Given the description of an element on the screen output the (x, y) to click on. 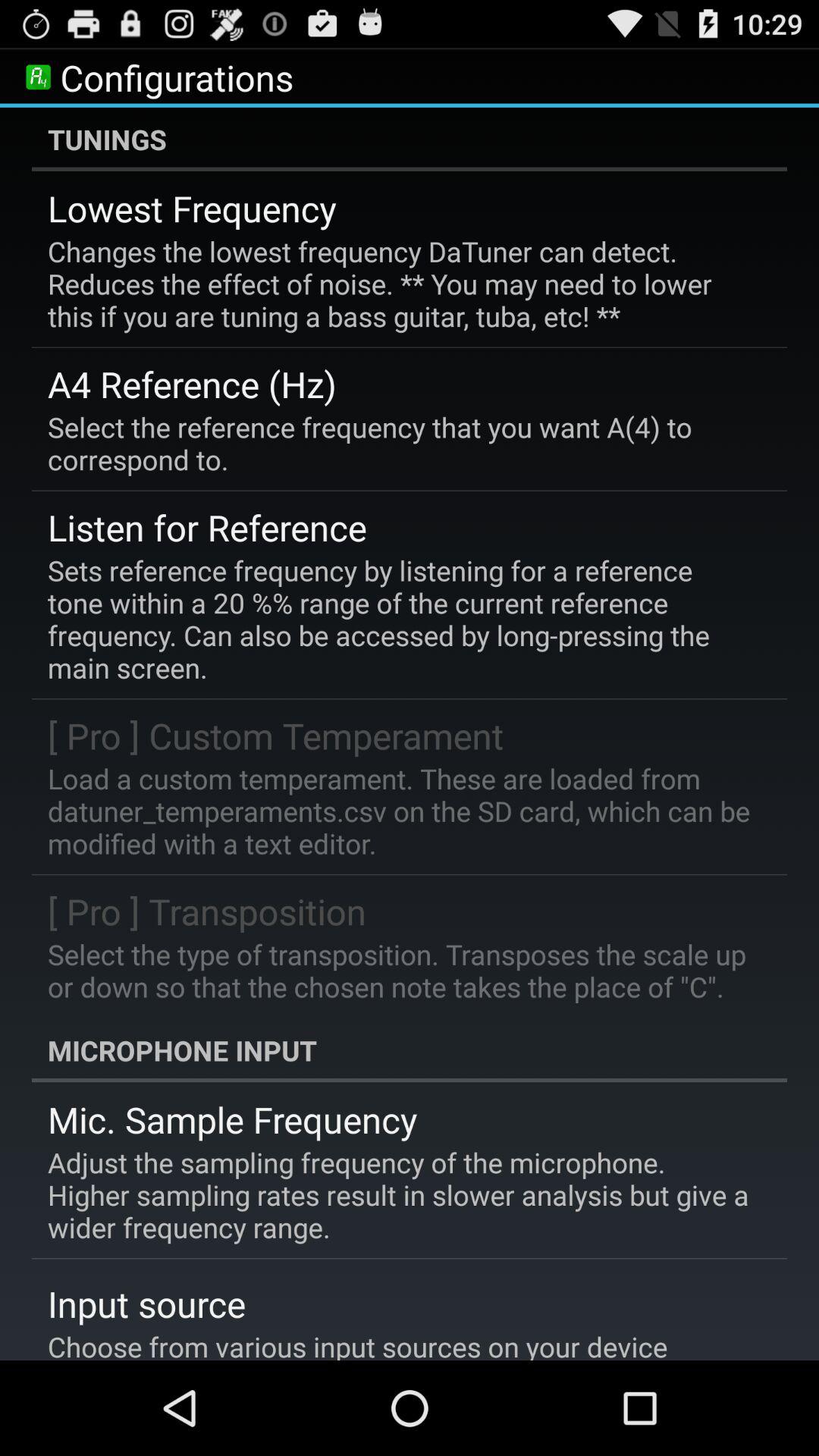
press the microphone input item (409, 1050)
